Given the description of an element on the screen output the (x, y) to click on. 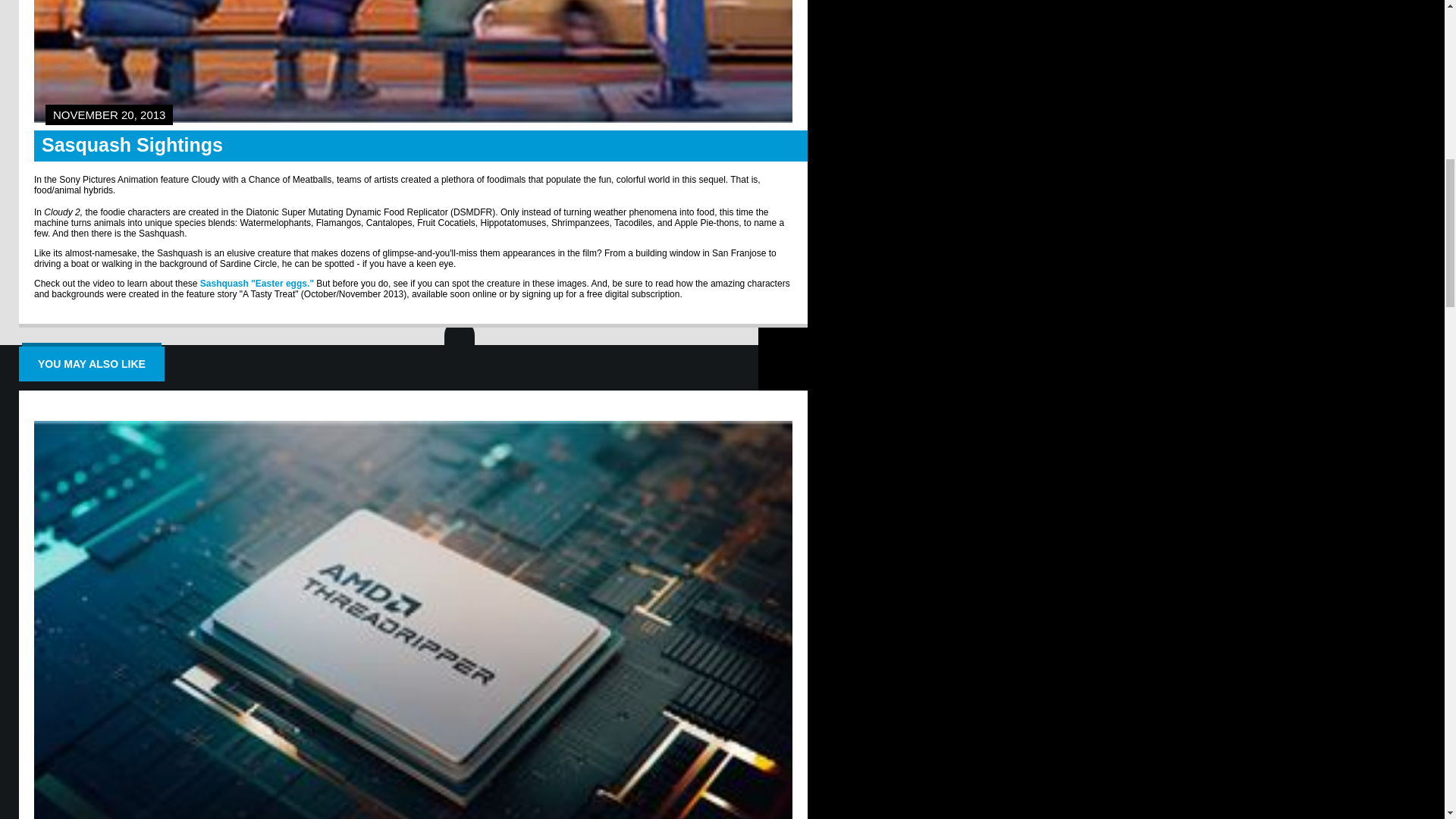
Sashquash "Easter eggs." (257, 283)
